Given the description of an element on the screen output the (x, y) to click on. 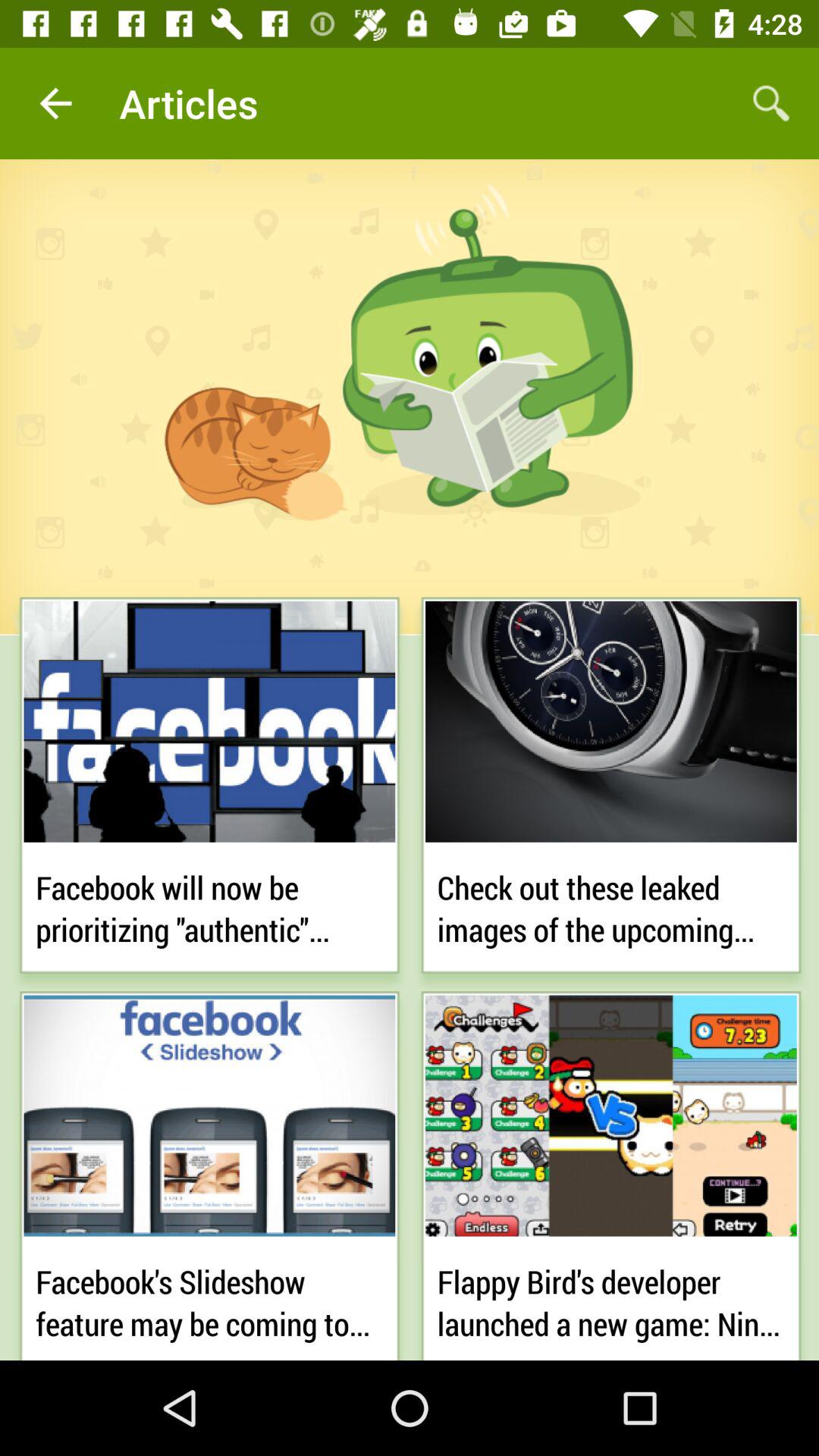
launch item next to the articles item (771, 103)
